Given the description of an element on the screen output the (x, y) to click on. 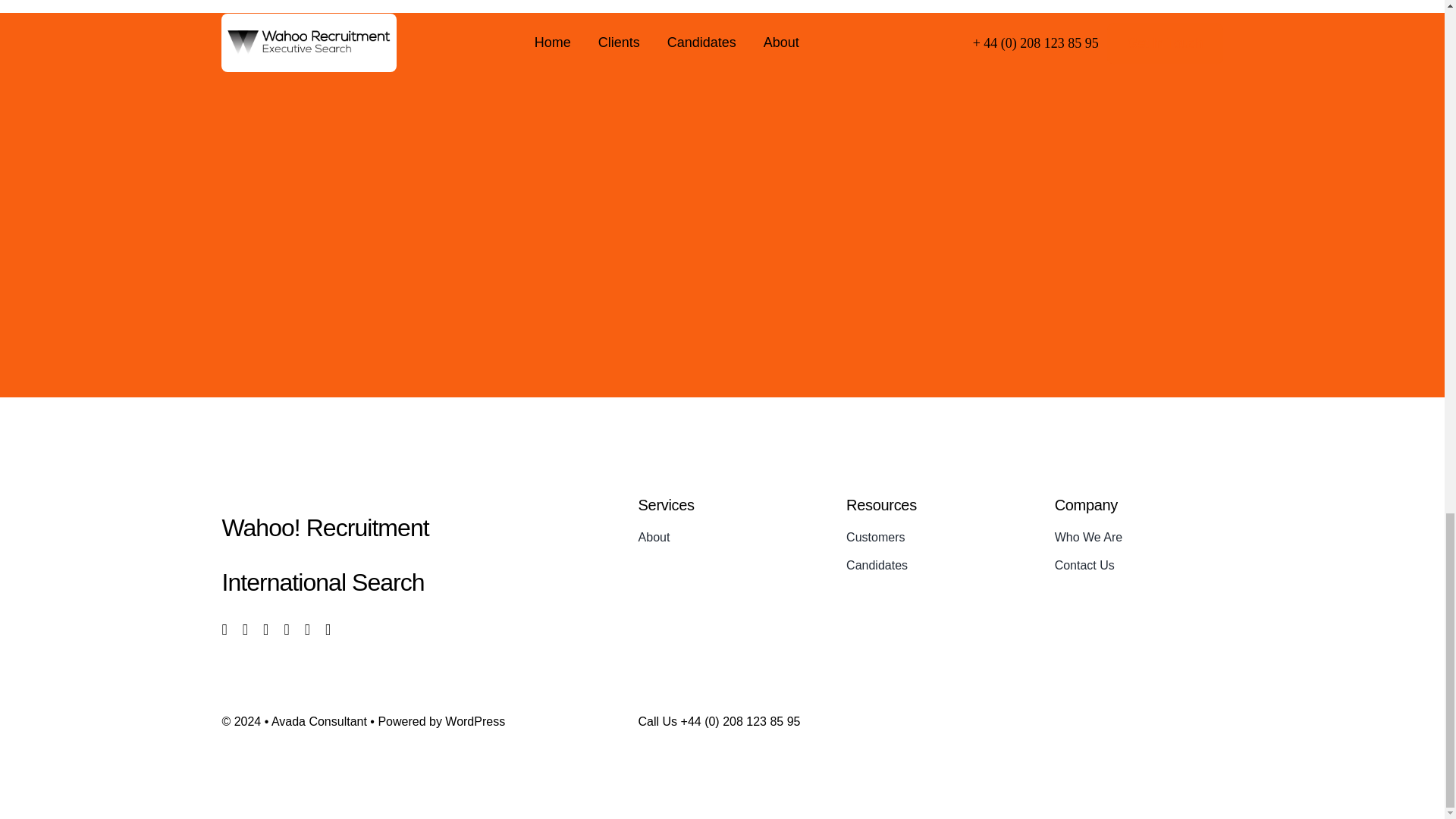
Candidates (929, 565)
About (722, 537)
Contact Us (1138, 565)
Who We Are (1138, 537)
Customers (929, 537)
